Given the description of an element on the screen output the (x, y) to click on. 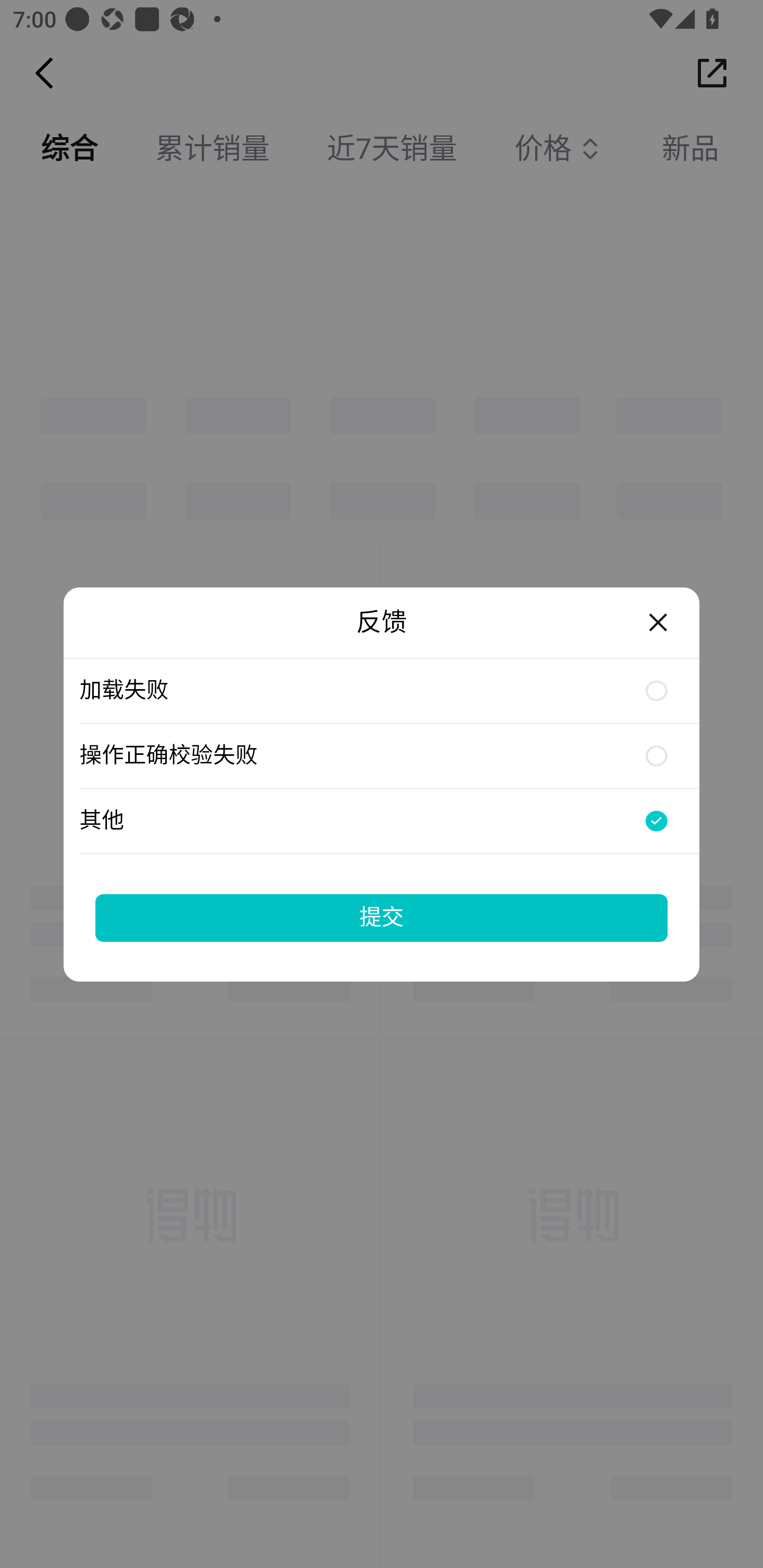
提交 (381, 917)
